Given the description of an element on the screen output the (x, y) to click on. 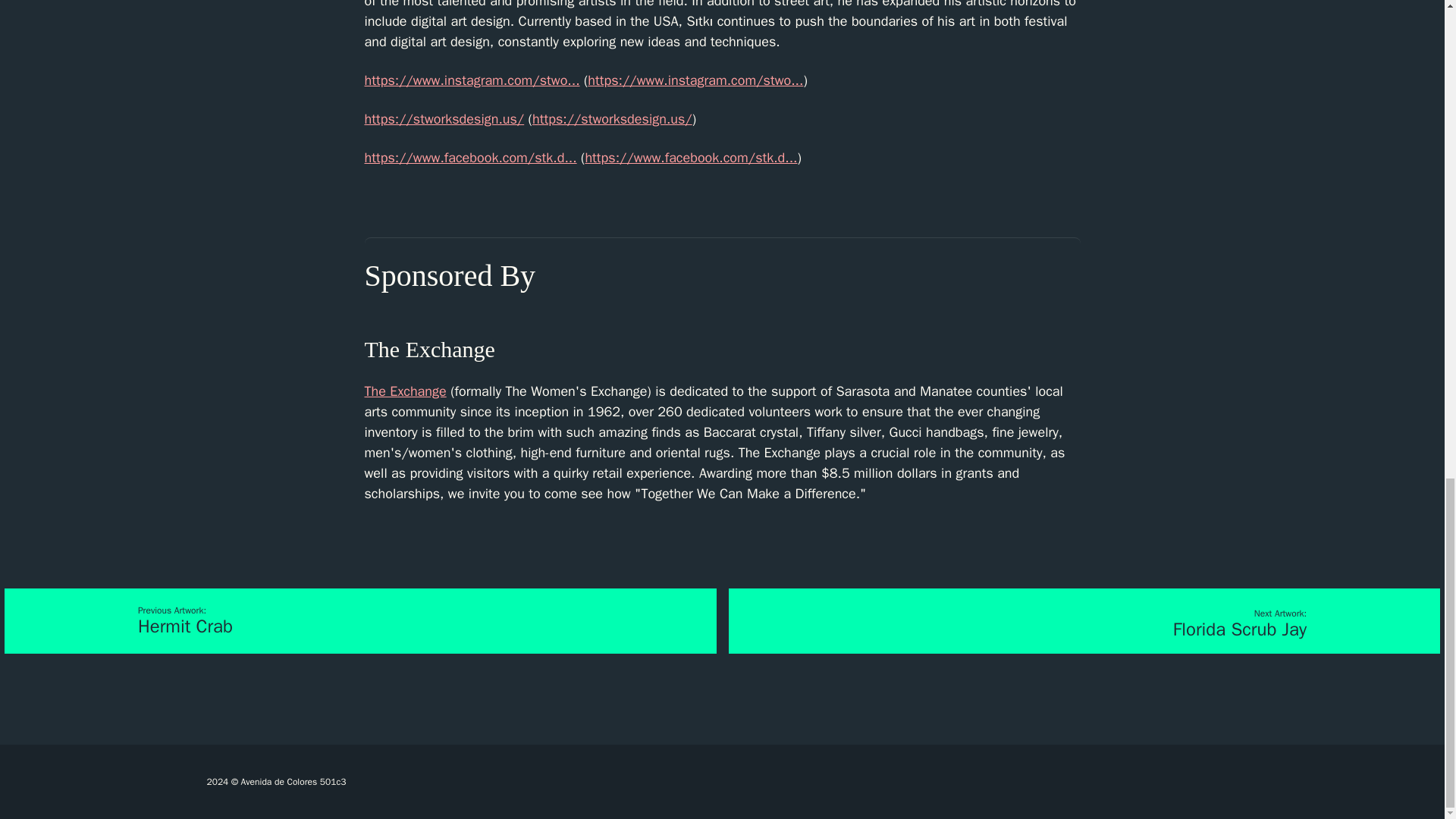
The Exchange (404, 391)
